Given the description of an element on the screen output the (x, y) to click on. 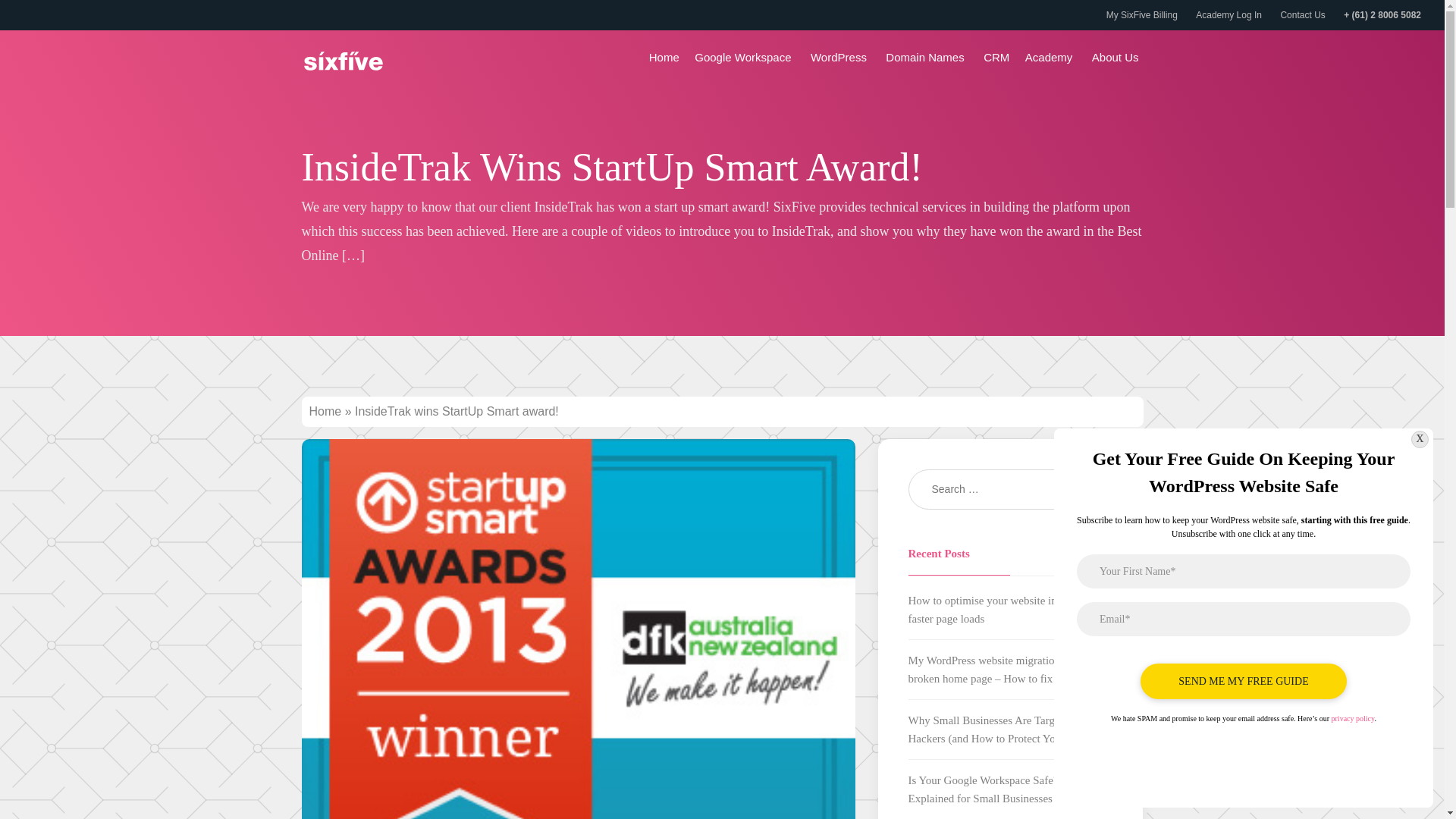
How to optimise your website images for faster page loads (1002, 609)
Search (1075, 488)
Google Workspace (744, 56)
Domain Names (926, 56)
Academy Log In (1228, 14)
Home (325, 410)
About Us (1117, 56)
Contact Us (1301, 14)
My SixFive Billing (1141, 14)
Academy (1051, 56)
WordPress (840, 56)
